Given the description of an element on the screen output the (x, y) to click on. 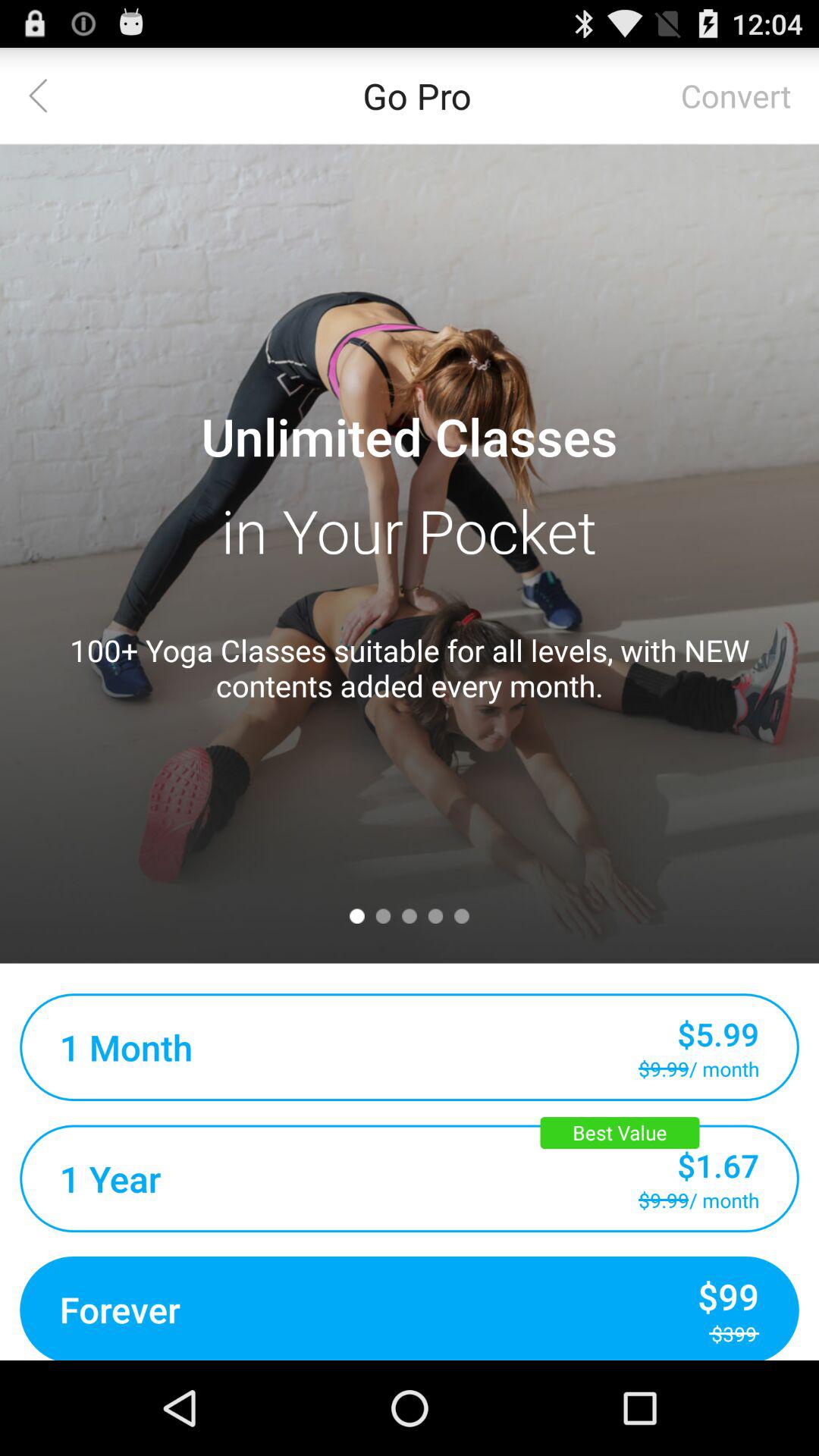
select the item to the left of go pro item (47, 95)
